Given the description of an element on the screen output the (x, y) to click on. 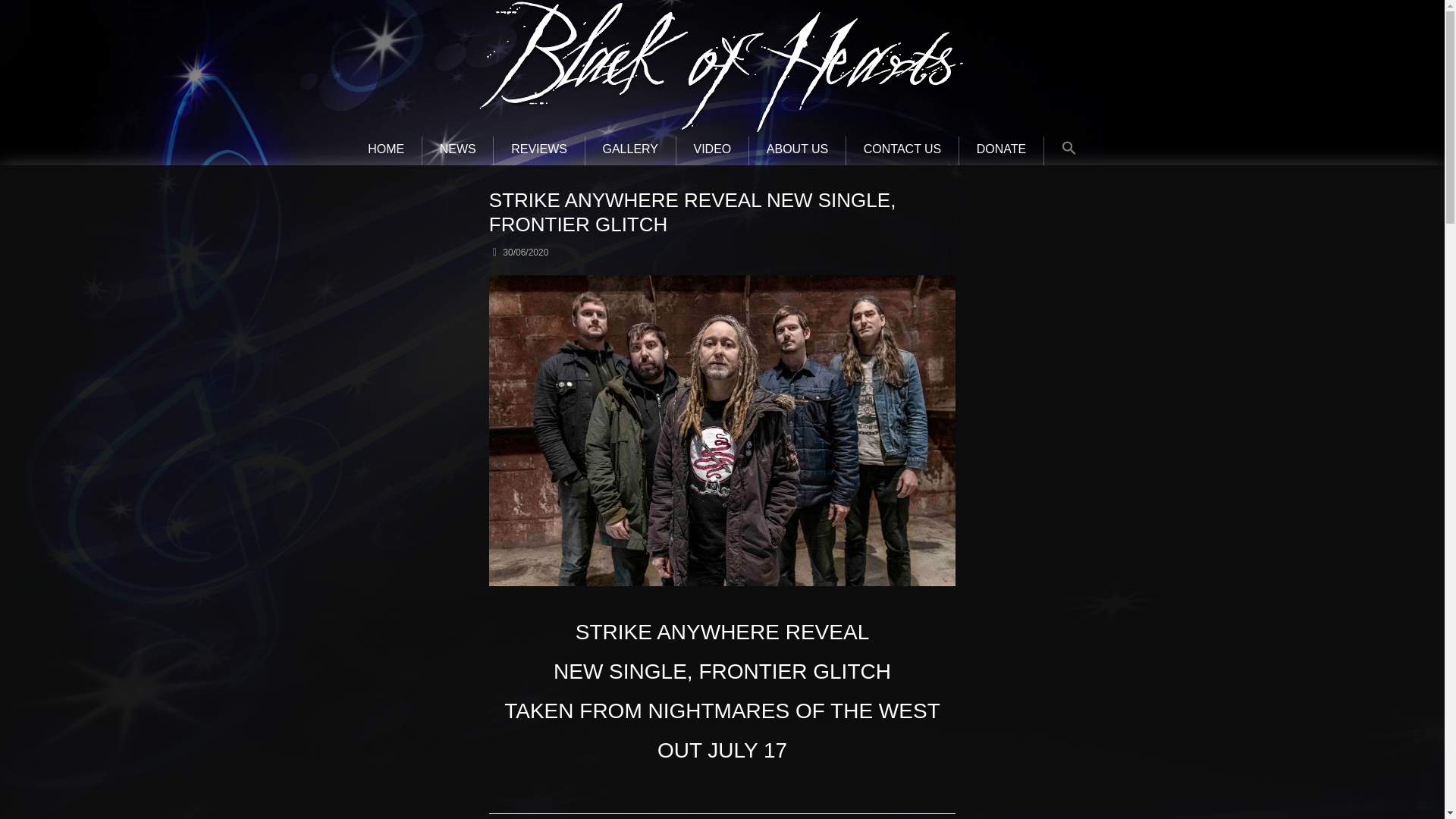
VIDEO (712, 150)
GALLERY (630, 150)
ABOUT US (797, 150)
HOME (385, 150)
DONATE (1001, 150)
STRIKE ANYWHERE REVEAL NEW SINGLE, FRONTIER GLITCH (722, 282)
CONTACT US (901, 150)
11:19 am (518, 252)
REVIEWS (538, 150)
NEWS (457, 150)
